Given the description of an element on the screen output the (x, y) to click on. 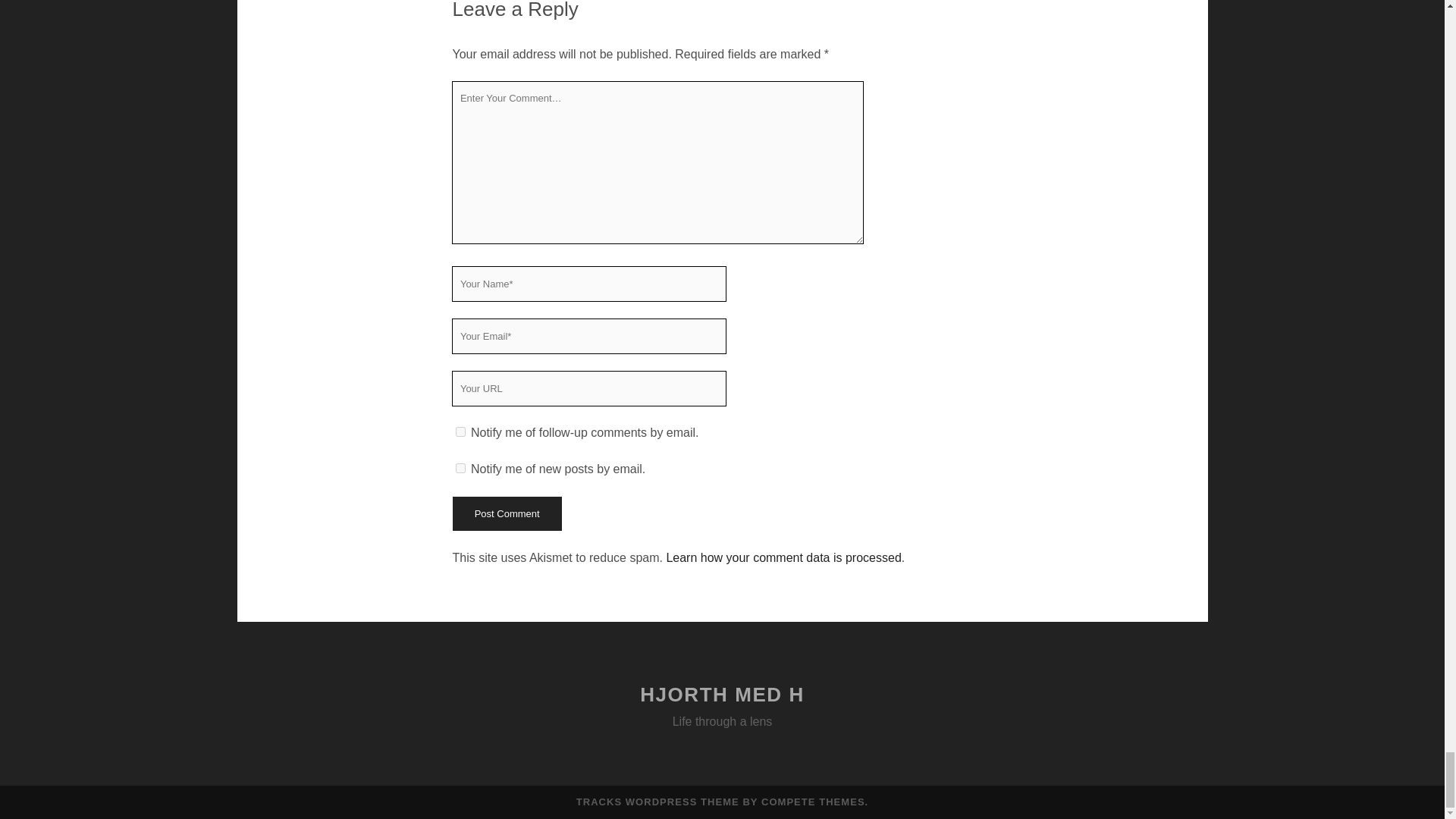
Post Comment (505, 513)
subscribe (459, 431)
Post Comment (505, 513)
TRACKS WORDPRESS THEME (657, 801)
subscribe (459, 468)
Learn how your comment data is processed (783, 557)
HJORTH MED H (722, 694)
